Given the description of an element on the screen output the (x, y) to click on. 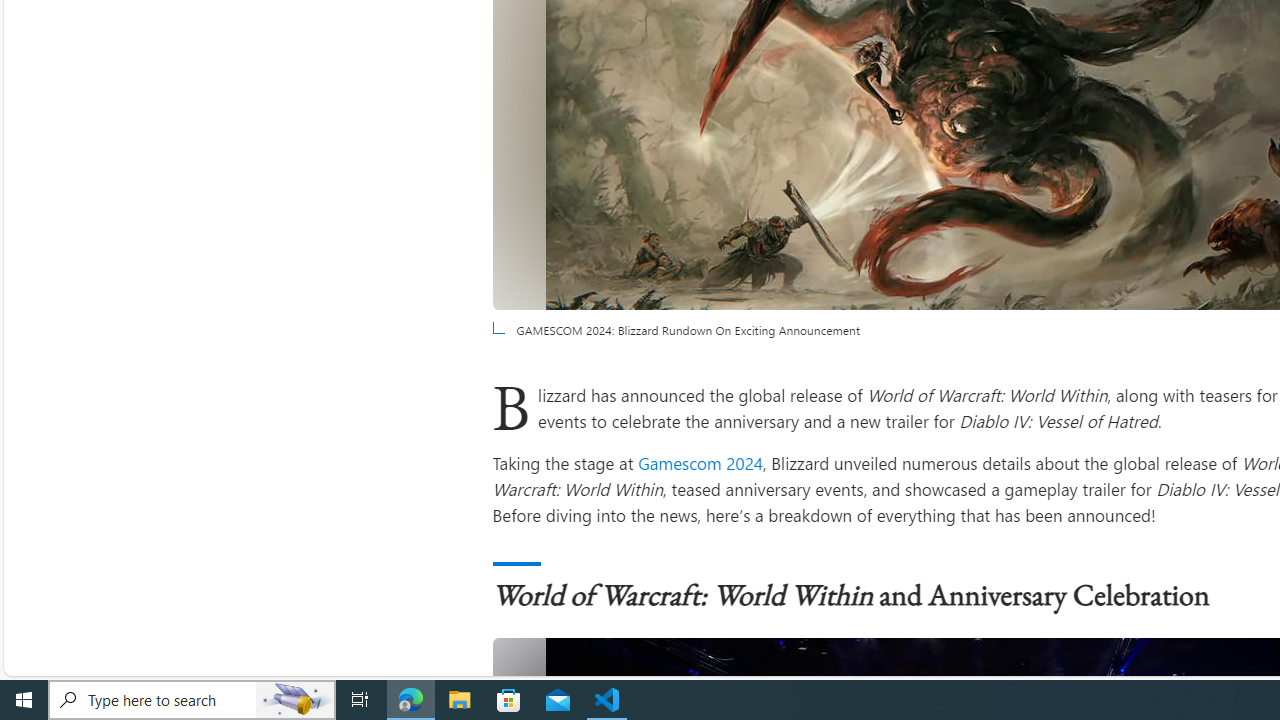
Gamescom 2024 (700, 462)
